Given the description of an element on the screen output the (x, y) to click on. 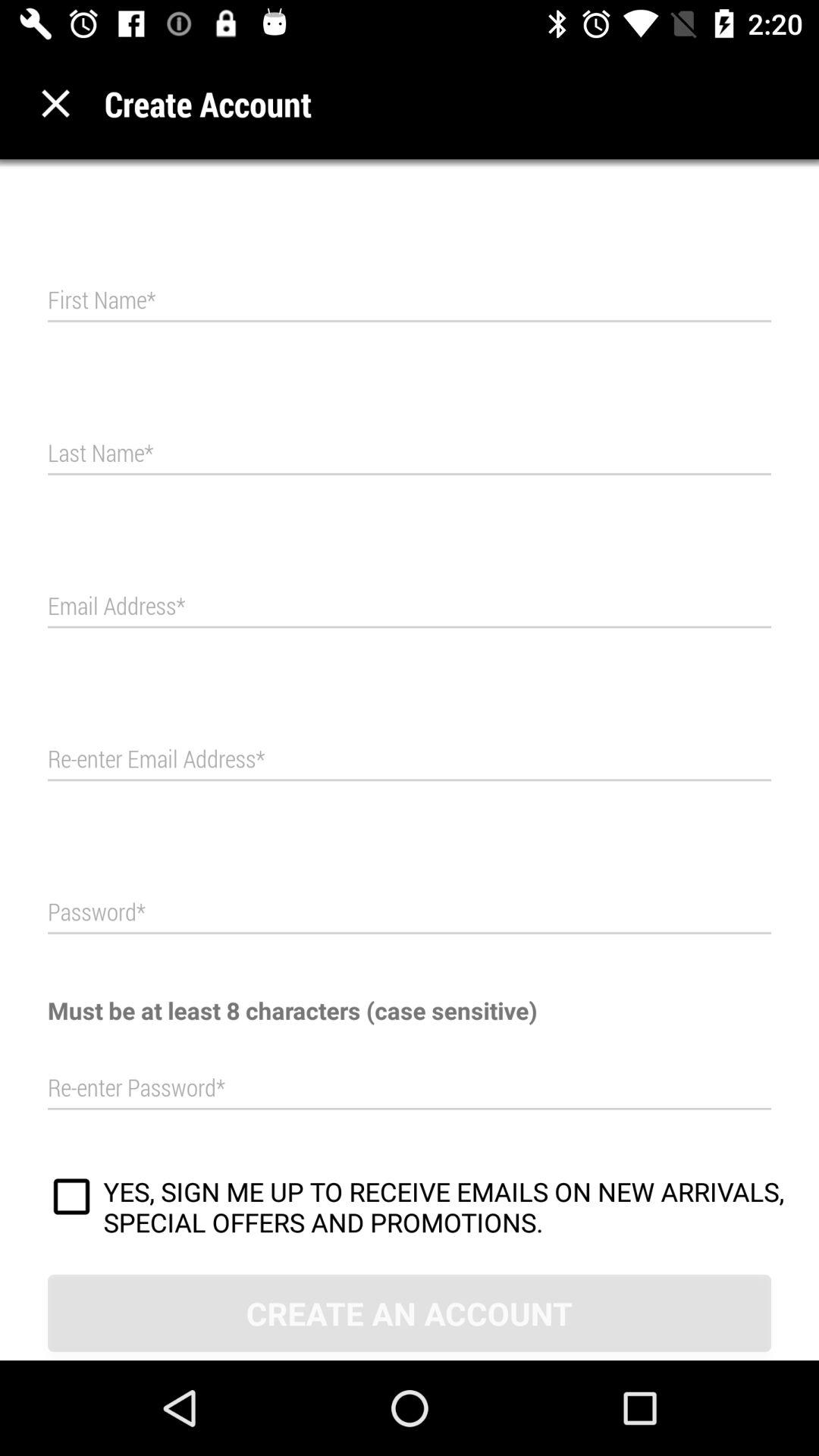
type last name (409, 453)
